Given the description of an element on the screen output the (x, y) to click on. 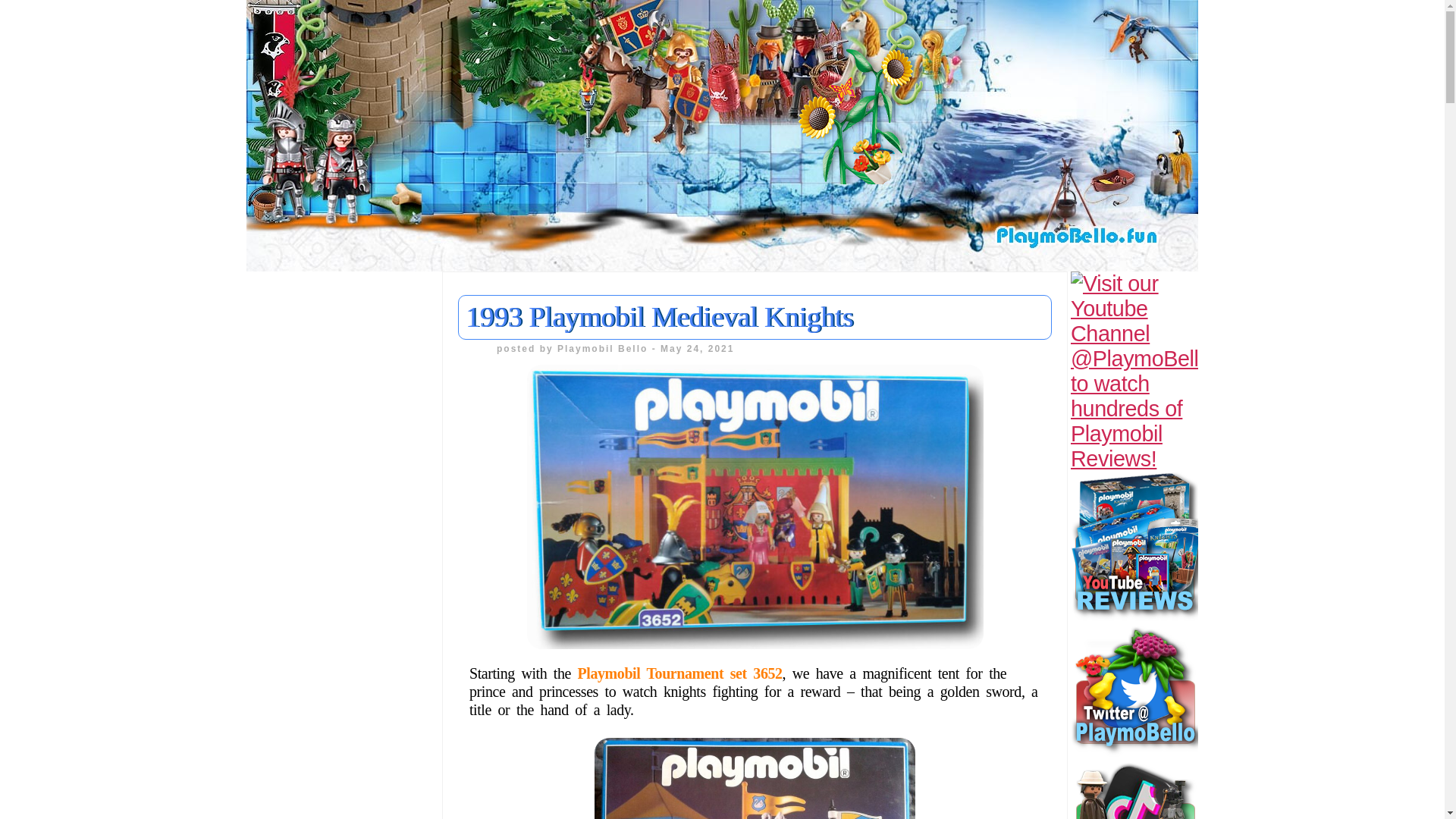
Playmobil Bello - (609, 348)
May 24, 2021 (697, 348)
1993 Playmobil Medieval Knights (659, 316)
